Given the description of an element on the screen output the (x, y) to click on. 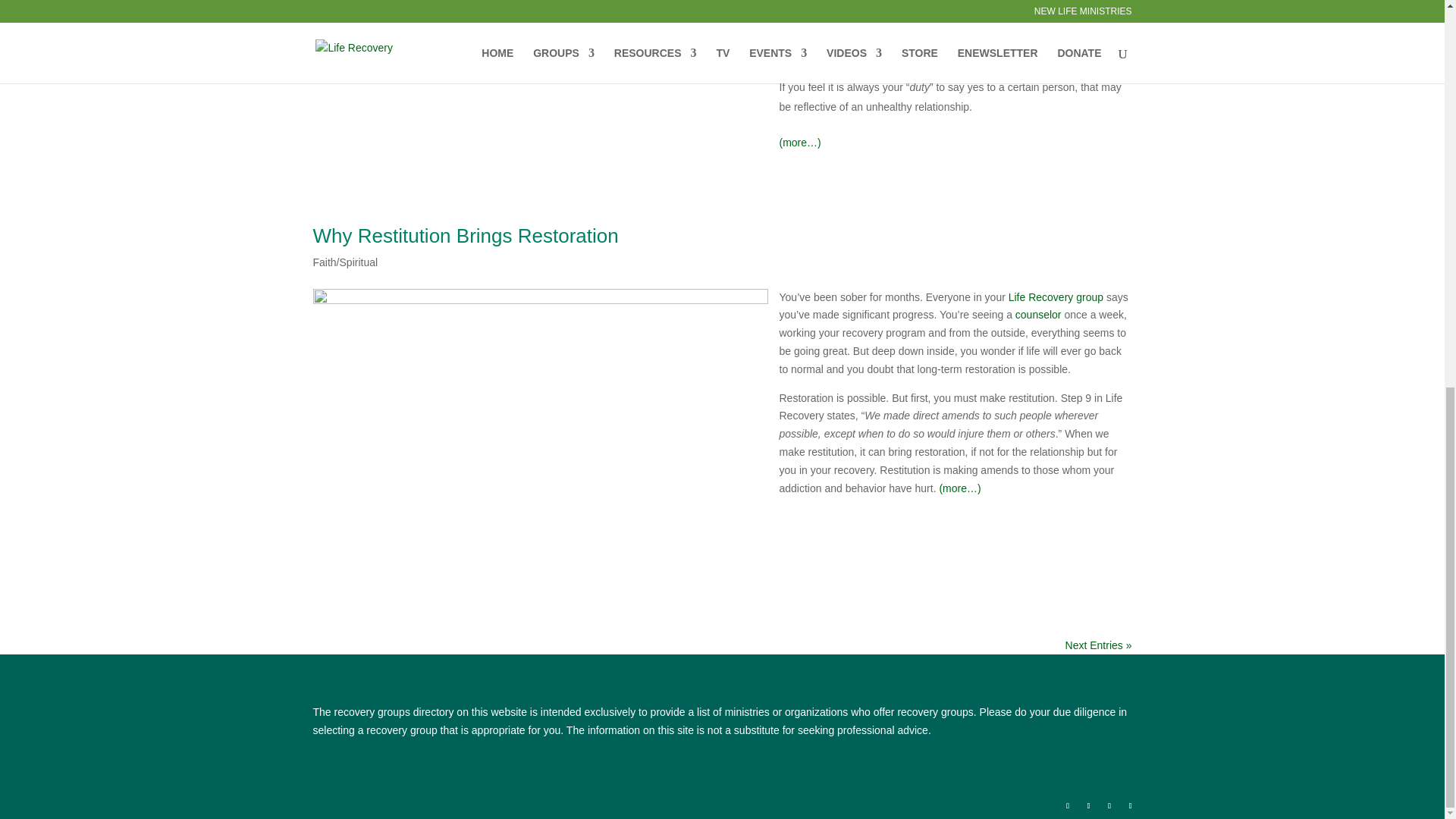
Life Recovery group (1056, 297)
Why Restitution Brings Restoration (465, 235)
counselor (1037, 314)
